Given the description of an element on the screen output the (x, y) to click on. 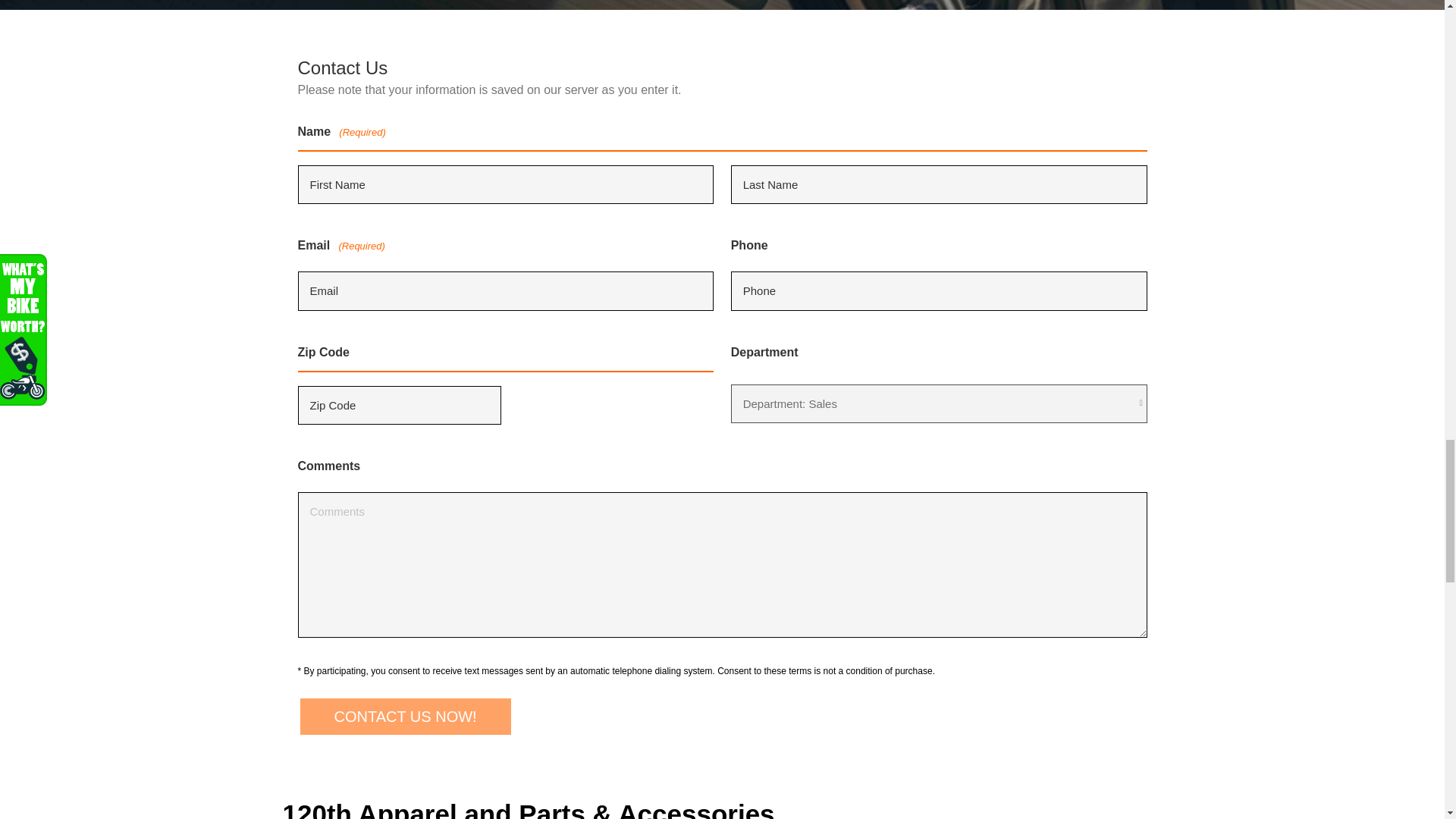
Contact Us Now! (404, 716)
